Given the description of an element on the screen output the (x, y) to click on. 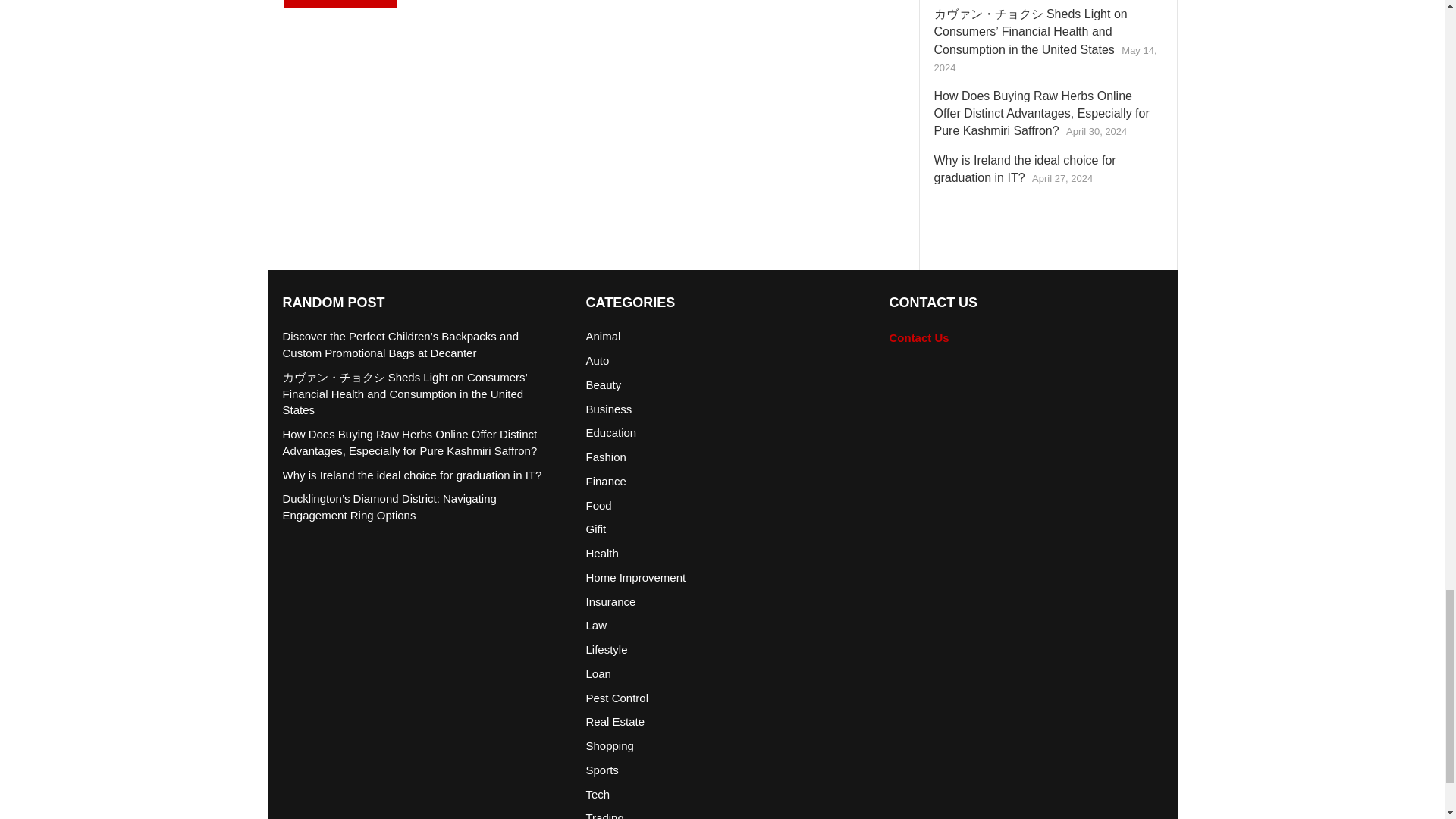
Post Comment (340, 4)
